Given the description of an element on the screen output the (x, y) to click on. 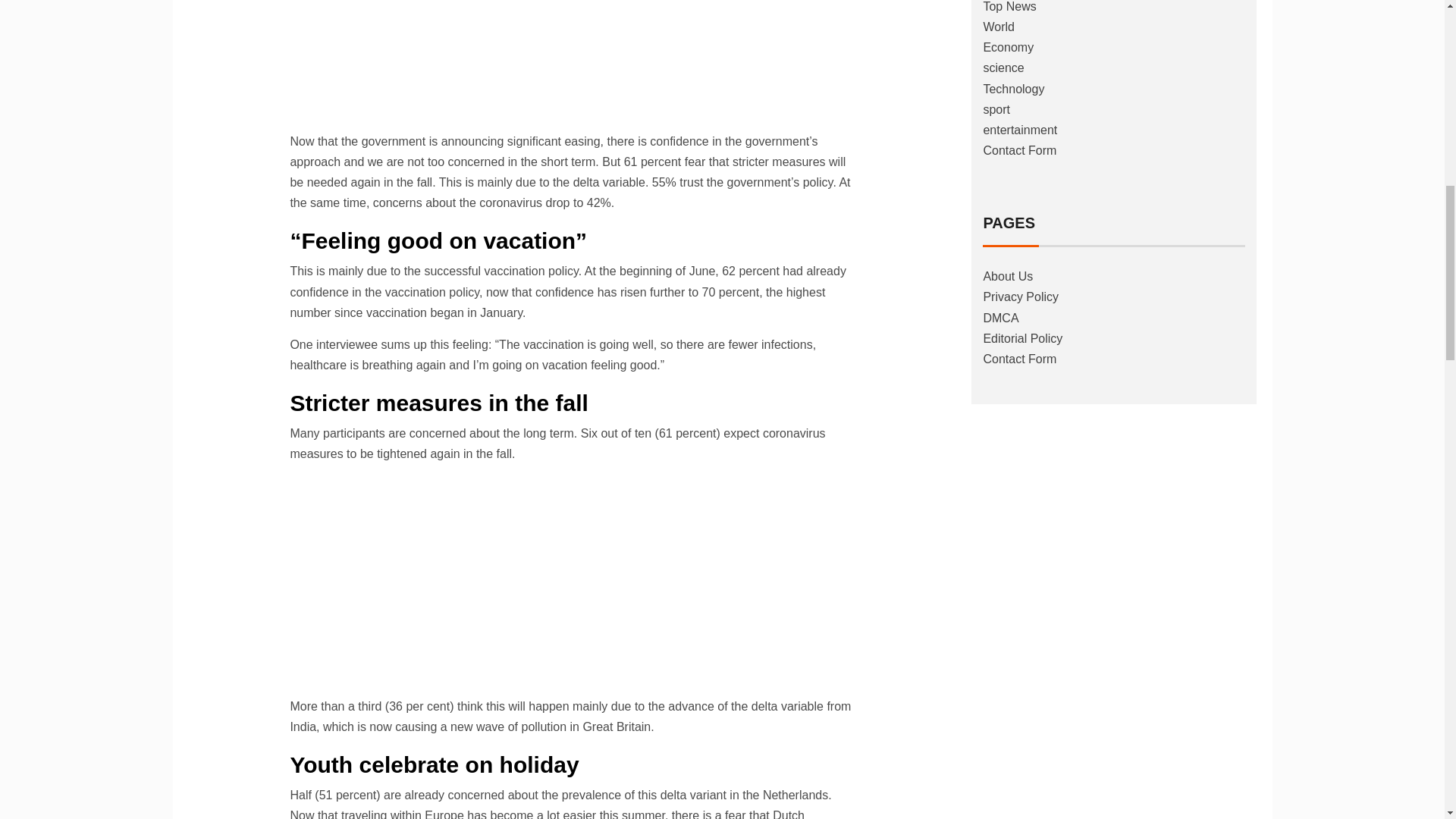
Advertisement (574, 581)
Advertisement (574, 61)
